Given the description of an element on the screen output the (x, y) to click on. 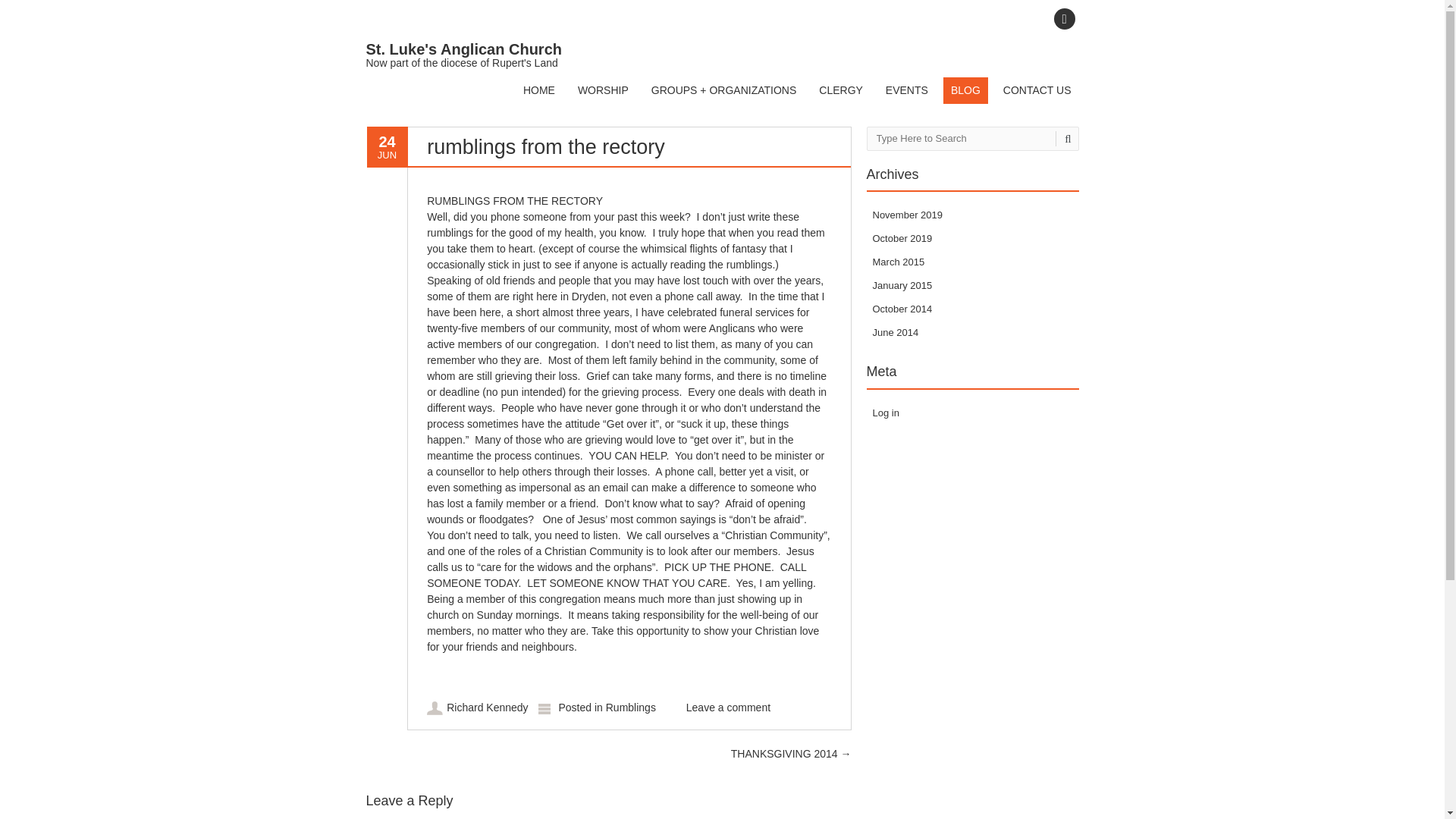
January 2015 (901, 285)
facebook (1063, 18)
Rumblings (630, 707)
Richard Kennedy (486, 707)
CLERGY (840, 90)
November 2019 (907, 214)
June 2014 (895, 332)
WORSHIP (603, 90)
Leave a comment (727, 707)
CONTACT US (1036, 90)
March 2015 (898, 261)
HOME (538, 90)
October 2014 (901, 308)
Now part of the diocese of Rupert's Land (463, 55)
Log in (885, 412)
